Given the description of an element on the screen output the (x, y) to click on. 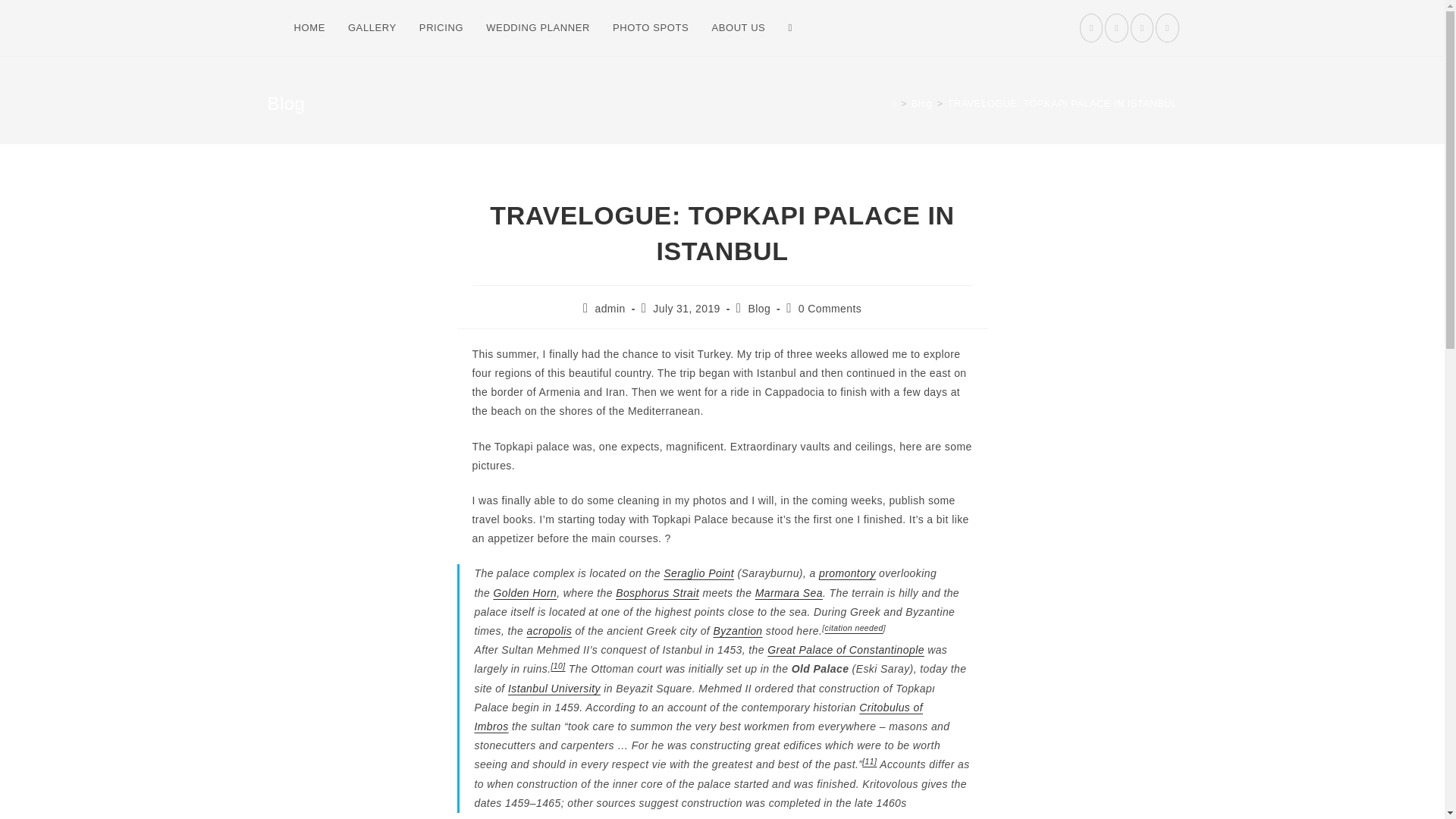
ABOUT US (738, 28)
HOME (309, 28)
PHOTO SPOTS (650, 28)
Blog (922, 102)
TRAVELOGUE: TOPKAPI PALACE IN ISTANBUL (1062, 102)
GALLERY (371, 28)
Posts by admin (609, 308)
WEDDING PLANNER (537, 28)
PRICING (440, 28)
